Given the description of an element on the screen output the (x, y) to click on. 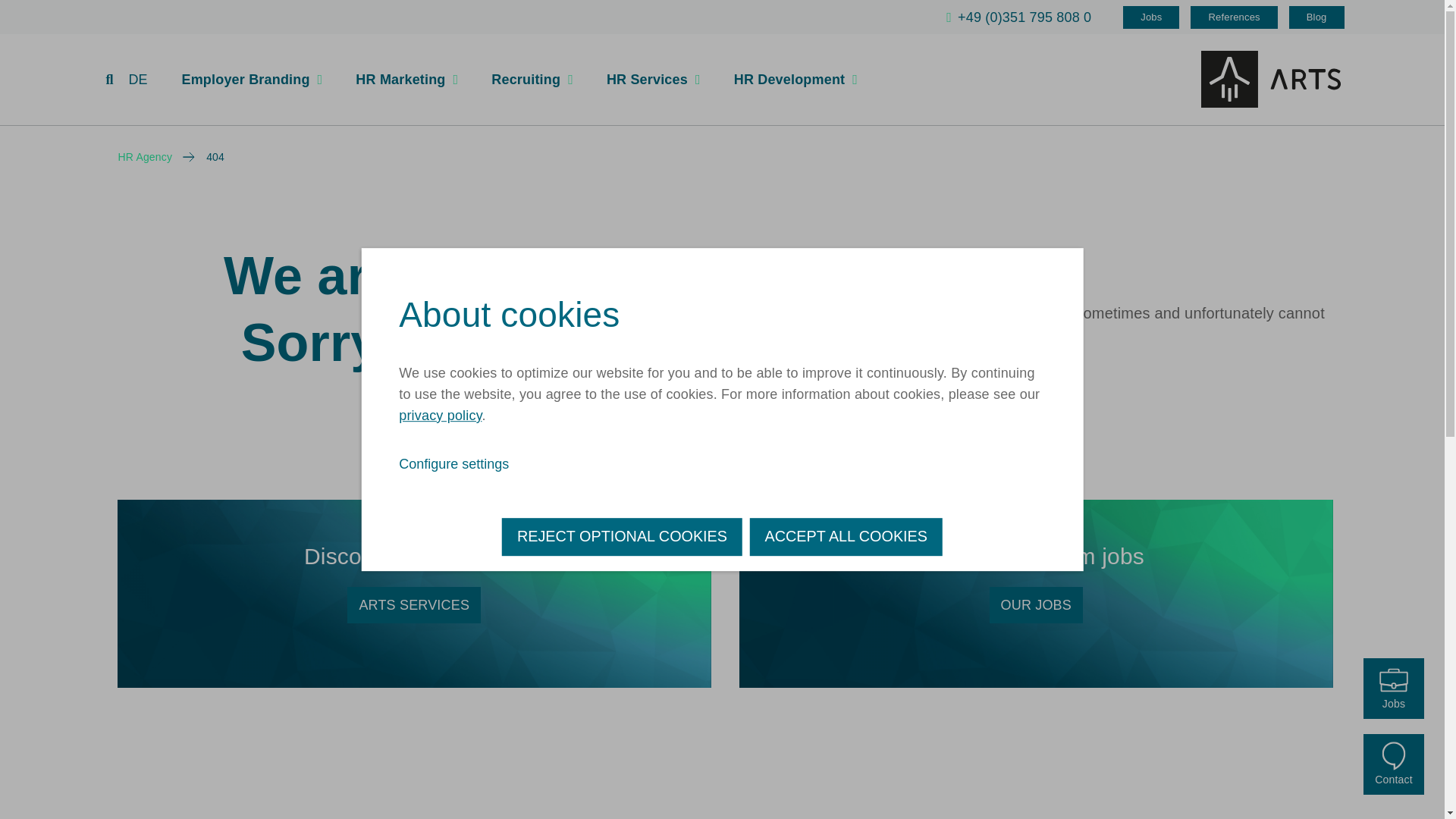
References (1233, 16)
Blog (1315, 16)
DE (137, 79)
References (1233, 16)
Blog (1315, 16)
Jobs (1150, 16)
Jobs (1150, 16)
